Given the description of an element on the screen output the (x, y) to click on. 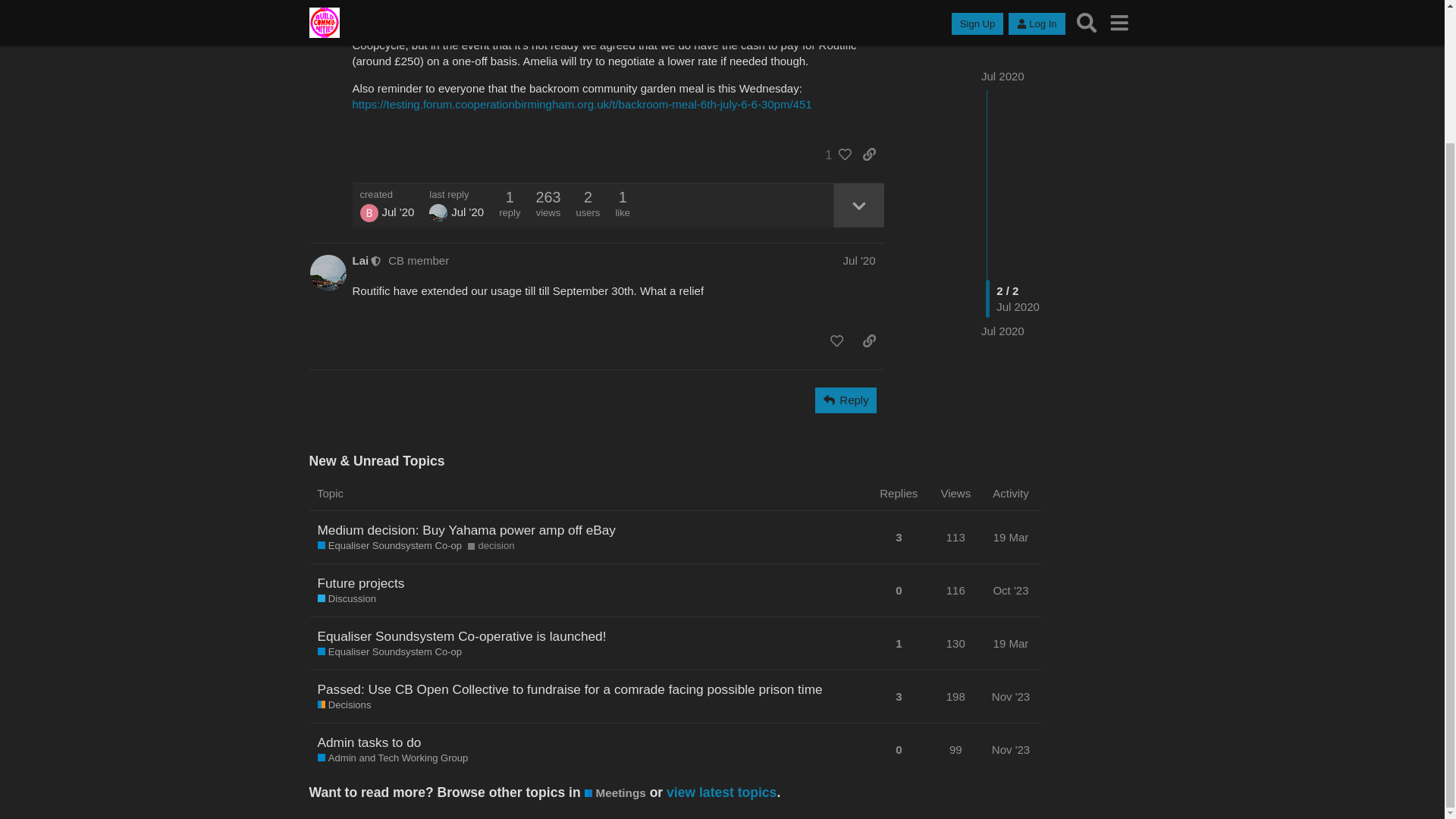
14 Jul 2020 21:49 (1003, 211)
expand topic details (857, 205)
Discussion (346, 599)
ben (368, 212)
Lai Power (437, 212)
13 Jul 2020 01:49 (397, 211)
Medium decision: Buy Yahama power amp off eBay (465, 529)
14 Jul 2020 21:49 (467, 211)
1 person liked this post (833, 154)
Future projects (360, 582)
Jul '20 (859, 259)
Equaliser Soundsystem Co-op (389, 545)
decision (491, 545)
3 (898, 537)
last reply (456, 194)
